Given the description of an element on the screen output the (x, y) to click on. 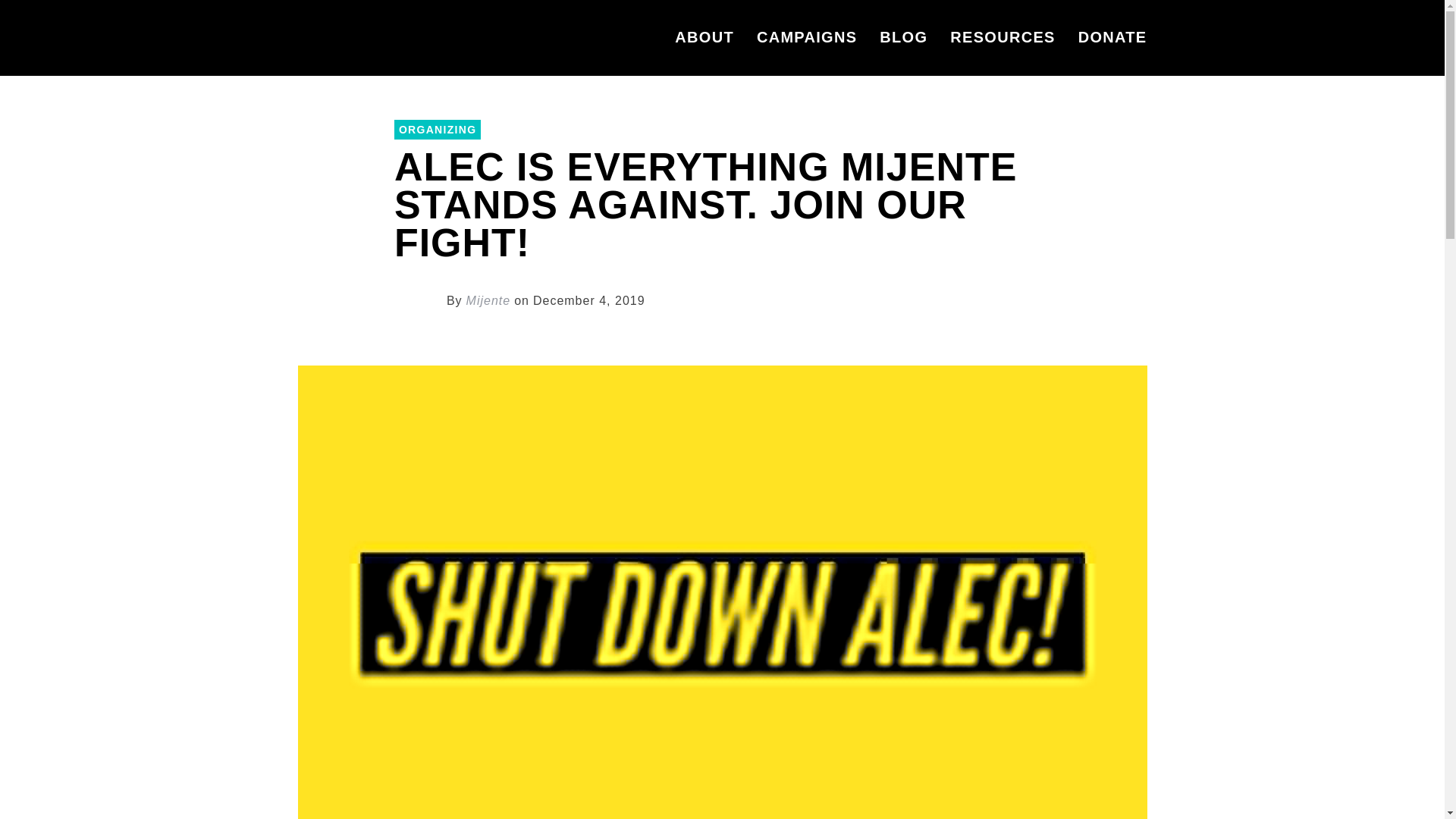
DONATE (1107, 37)
RESOURCES (1002, 37)
BLOG (903, 37)
ORGANIZING (437, 129)
Mijente (488, 300)
ABOUT (704, 37)
CAMPAIGNS (806, 37)
